Given the description of an element on the screen output the (x, y) to click on. 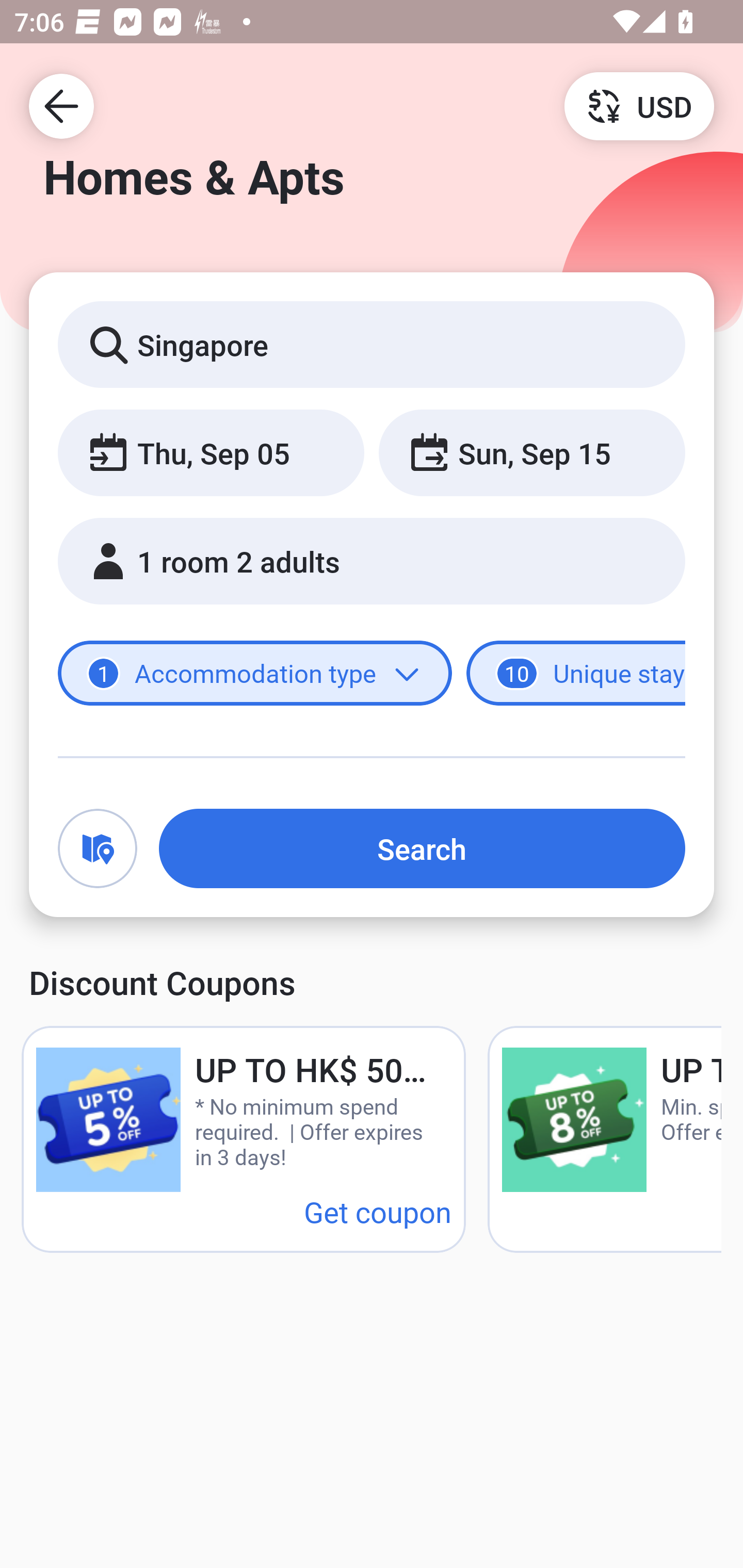
USD (639, 105)
Singapore (371, 344)
Thu, Sep 05 (210, 452)
Sun, Sep 15 (531, 452)
1 room 2 adults (371, 561)
1 Accommodation type (254, 673)
10 Unique stays (575, 673)
Search (422, 848)
Get coupon (377, 1211)
